Given the description of an element on the screen output the (x, y) to click on. 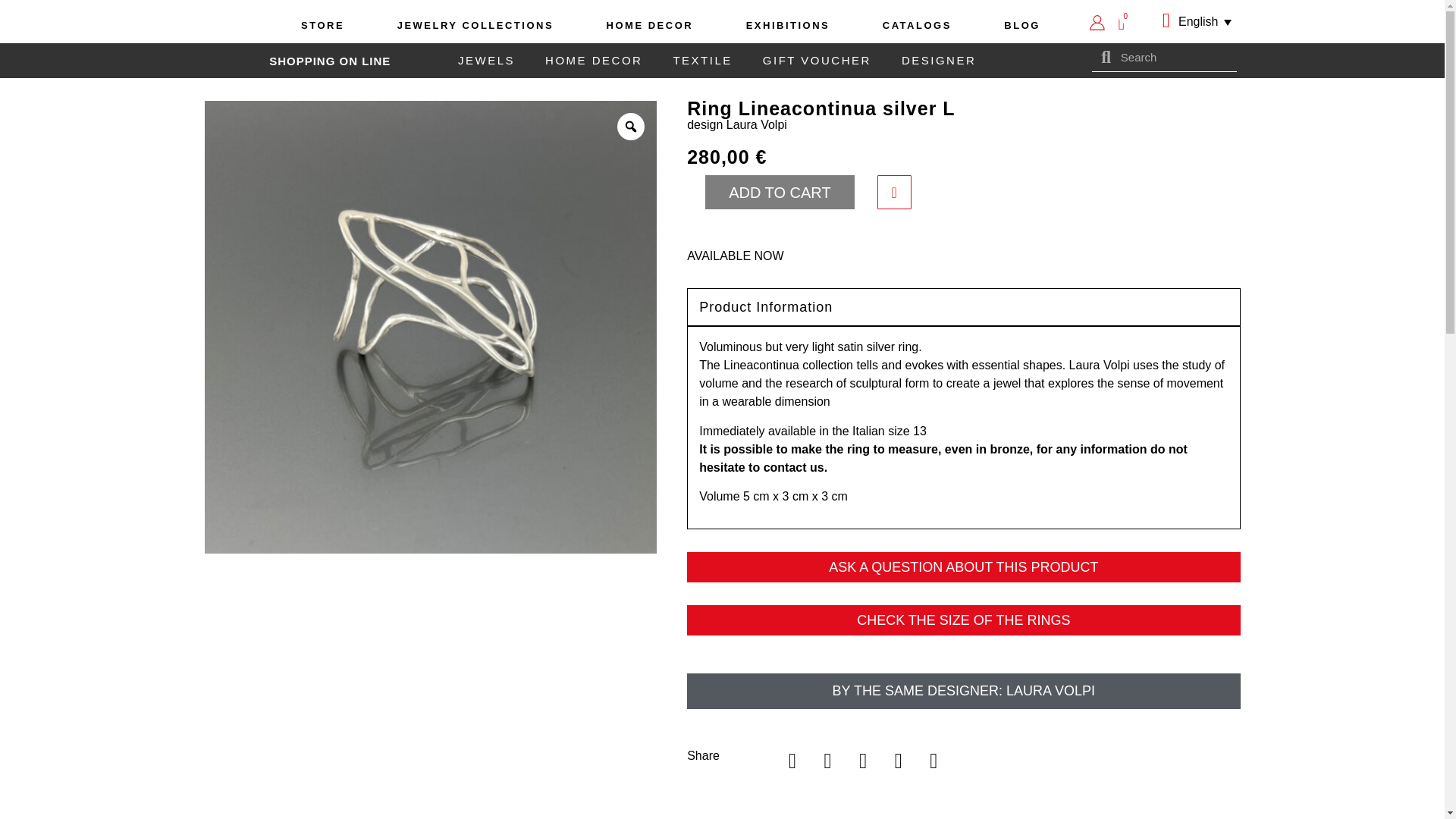
GIFT VOUCHER (817, 60)
JEWELS (485, 60)
HOME DECOR (649, 25)
JEWELRY COLLECTIONS (475, 25)
anello-grande-silver-3 (318, 667)
EXHIBITIONS (787, 25)
HOME DECOR (593, 60)
CATALOGS (917, 25)
BLOG (1022, 25)
